Given the description of an element on the screen output the (x, y) to click on. 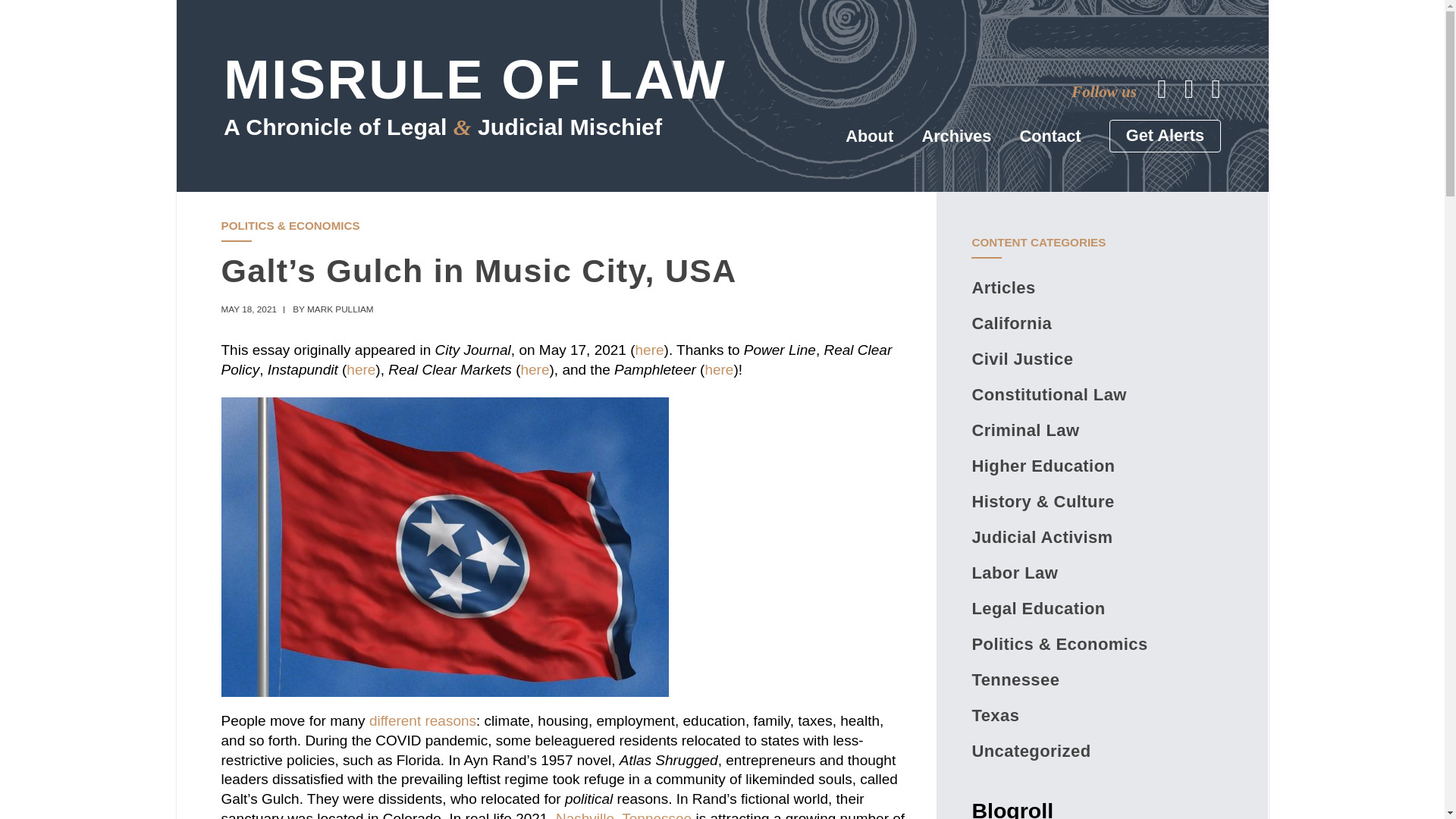
here (533, 369)
Contact (1050, 136)
Nashville, Tennessee (623, 814)
here (648, 349)
different reasons (422, 720)
Get Alerts (1165, 135)
here (718, 369)
here (360, 369)
Archives (956, 136)
About (869, 136)
